Given the description of an element on the screen output the (x, y) to click on. 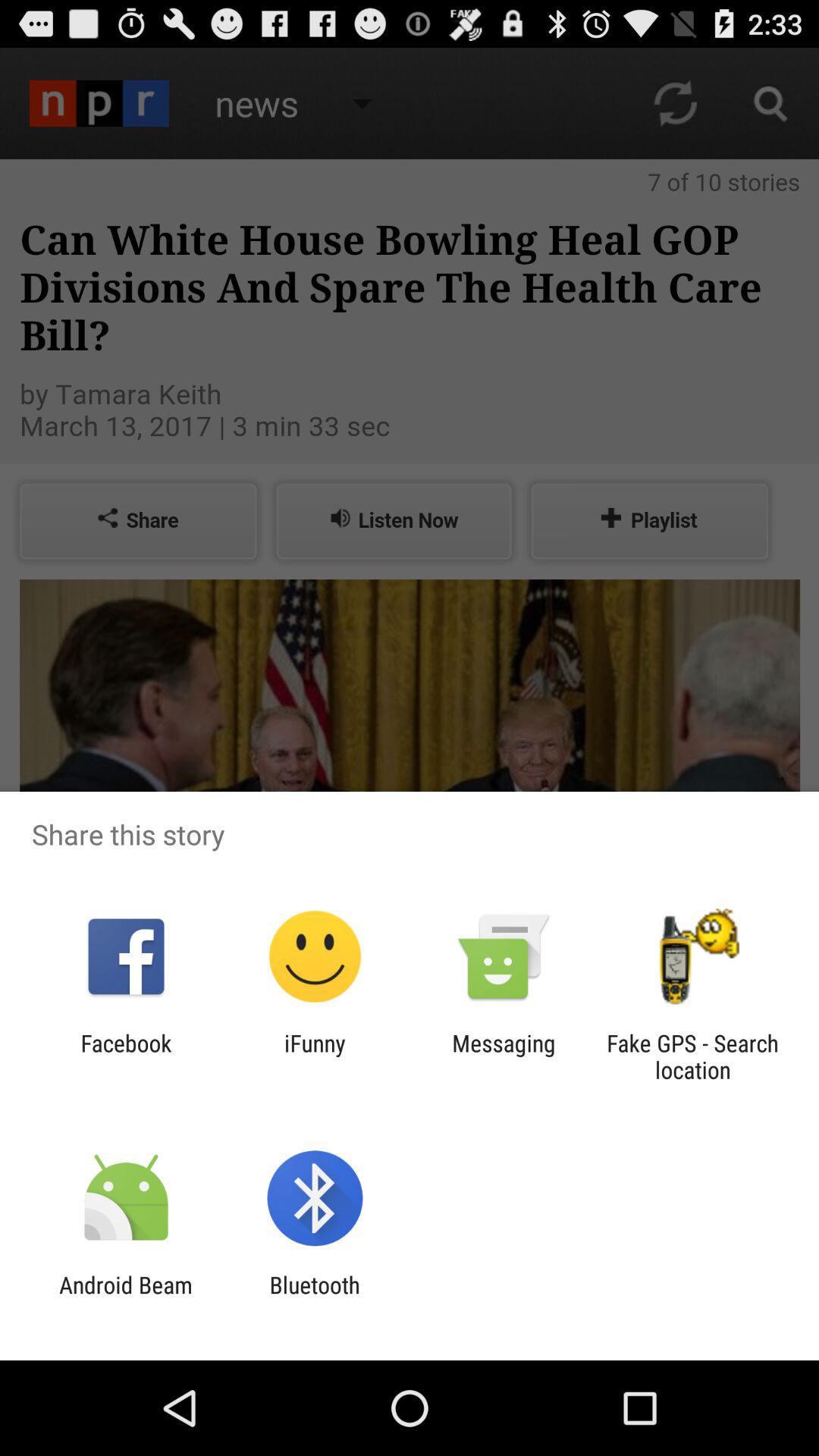
flip until messaging icon (503, 1056)
